Given the description of an element on the screen output the (x, y) to click on. 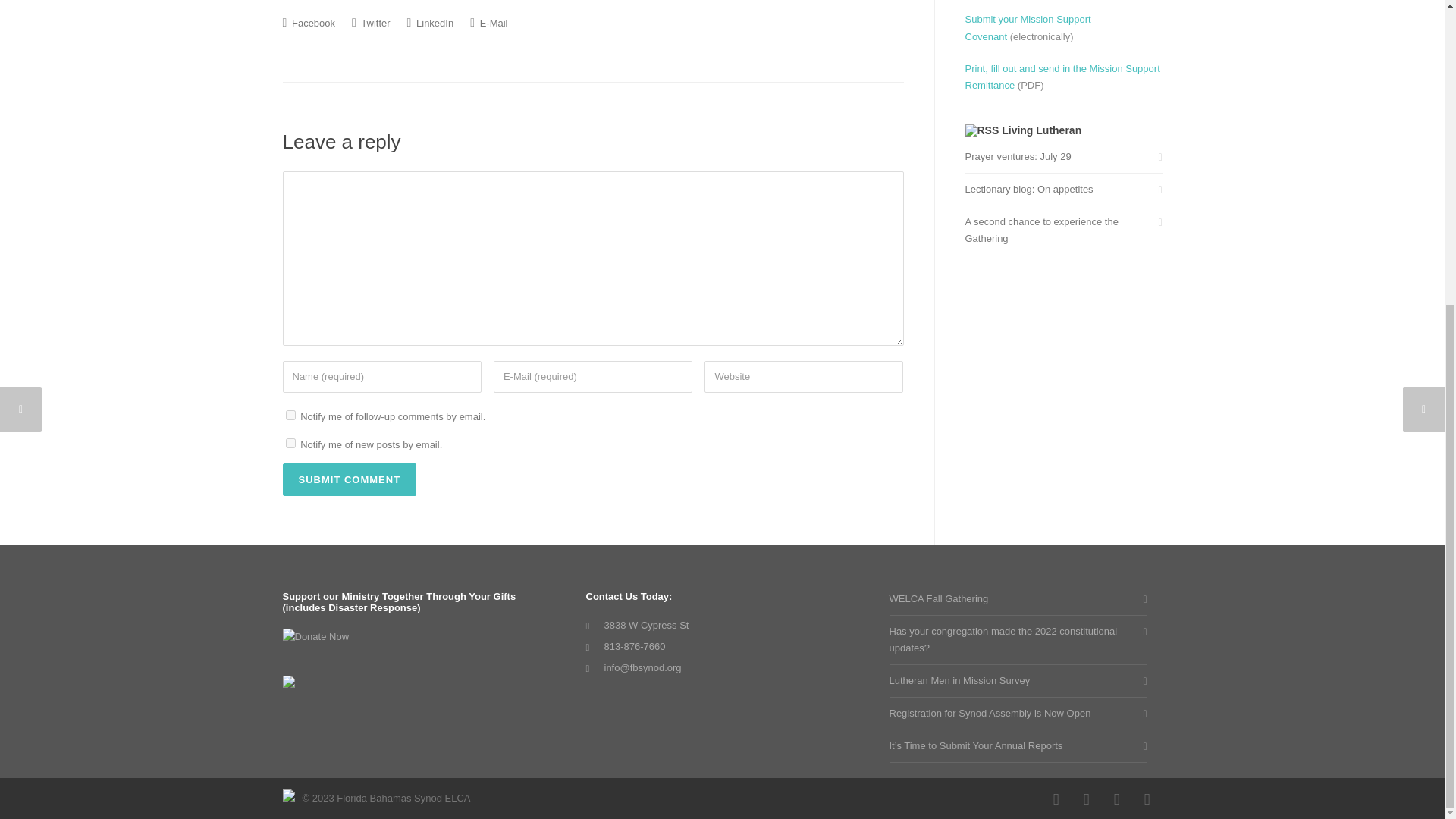
Submit Comment (349, 479)
Share via LinkedIn (430, 22)
Facebook (1055, 798)
subscribe (290, 442)
Share via E-Mail (488, 22)
Share via Facebook (308, 22)
Share via Twitter (371, 22)
subscribe (290, 415)
Website (803, 377)
